Given the description of an element on the screen output the (x, y) to click on. 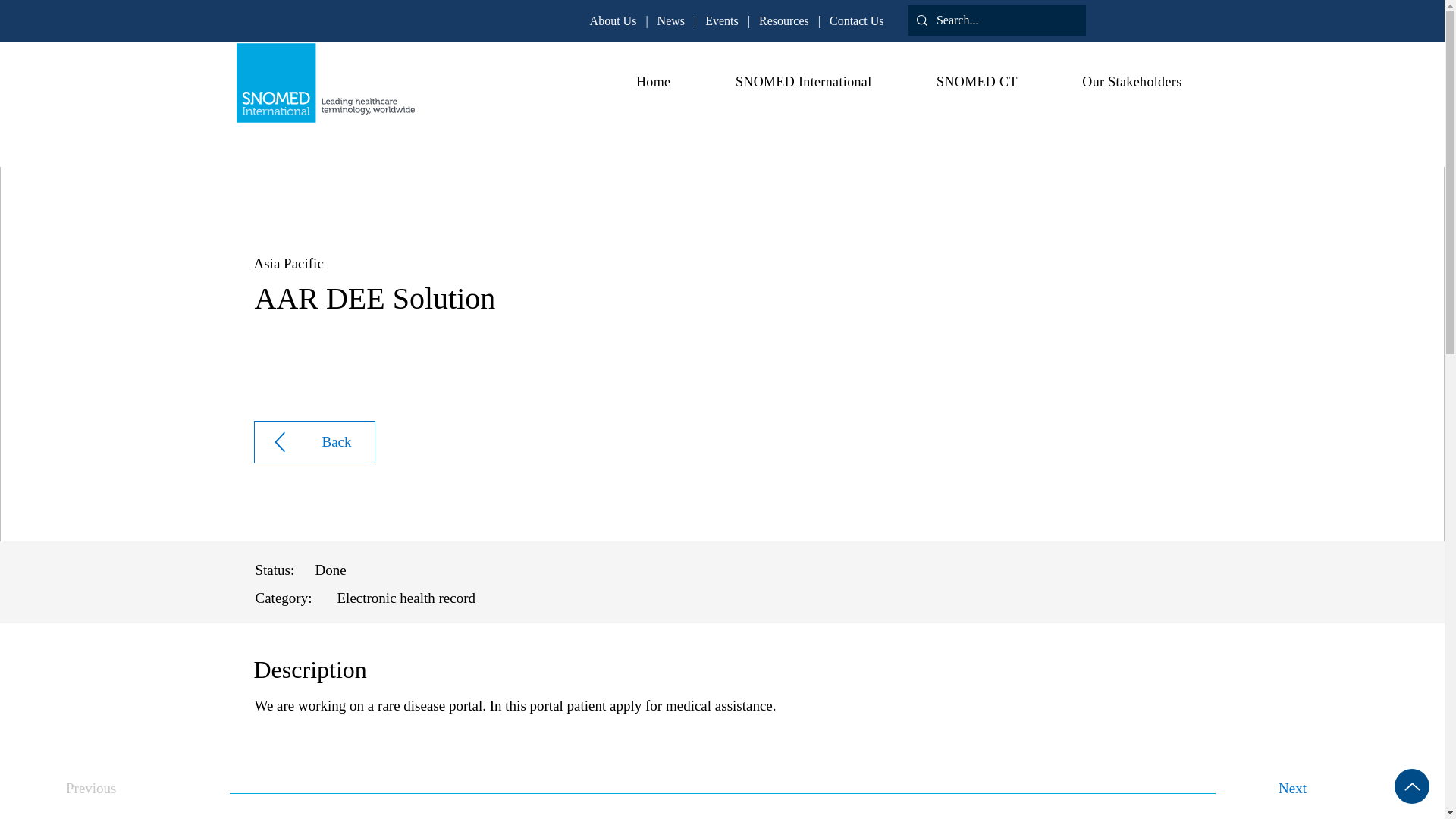
Our Stakeholders (1109, 81)
Resources (783, 20)
News (671, 20)
About Us (613, 20)
Next (1328, 788)
Home (631, 81)
Events (721, 20)
Previous (115, 788)
Contact Us (856, 20)
Back (313, 441)
